Given the description of an element on the screen output the (x, y) to click on. 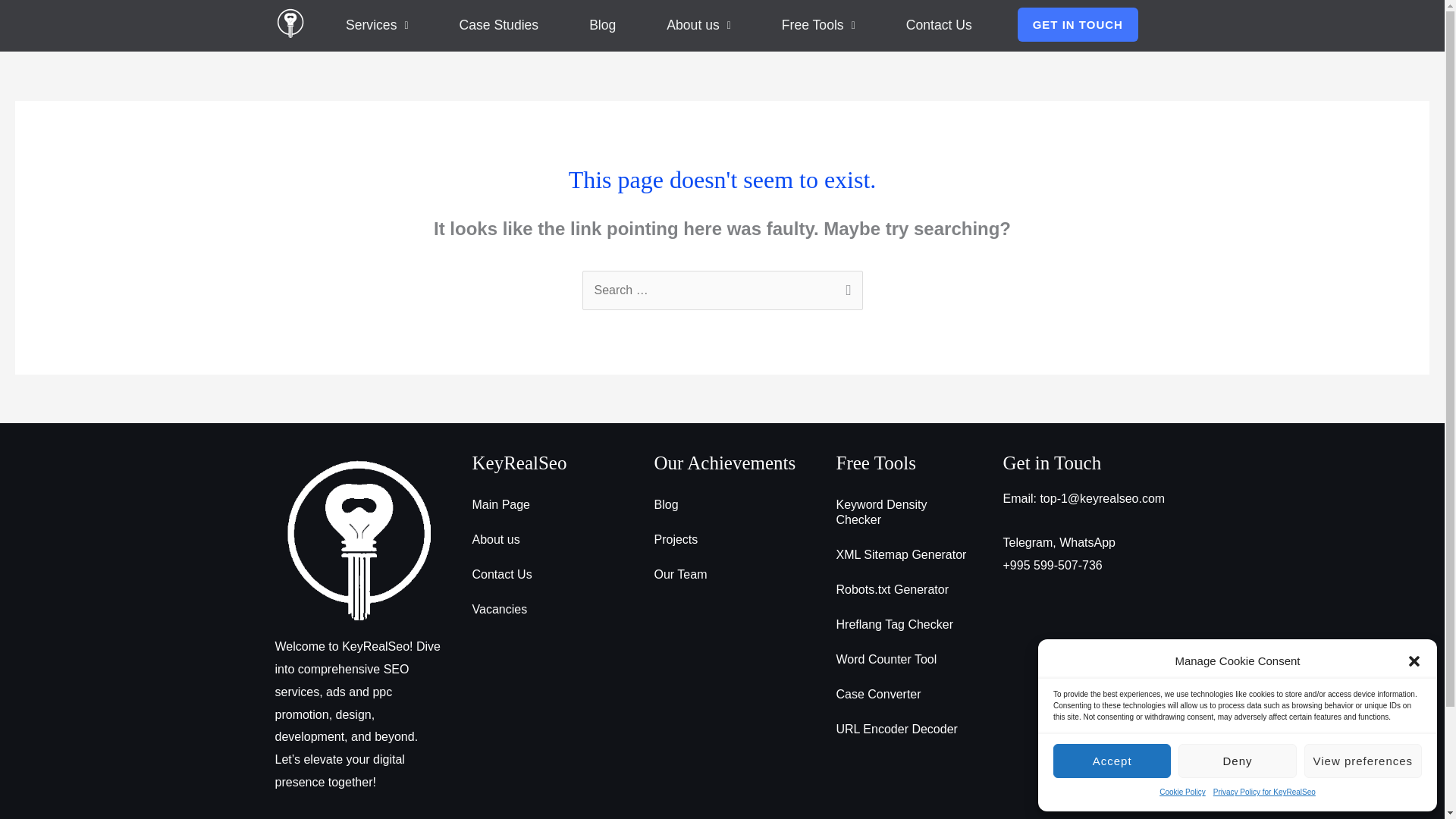
Privacy Policy for KeyRealSeo (1264, 792)
Accept (1111, 760)
GET IN TOUCH (1077, 24)
View preferences (1363, 760)
Case Studies (498, 25)
Deny (1236, 760)
Cookie Policy (1181, 792)
Services (376, 25)
Blog (603, 25)
Contact Us (938, 25)
Free Tools (817, 25)
About us (699, 25)
